Given the description of an element on the screen output the (x, y) to click on. 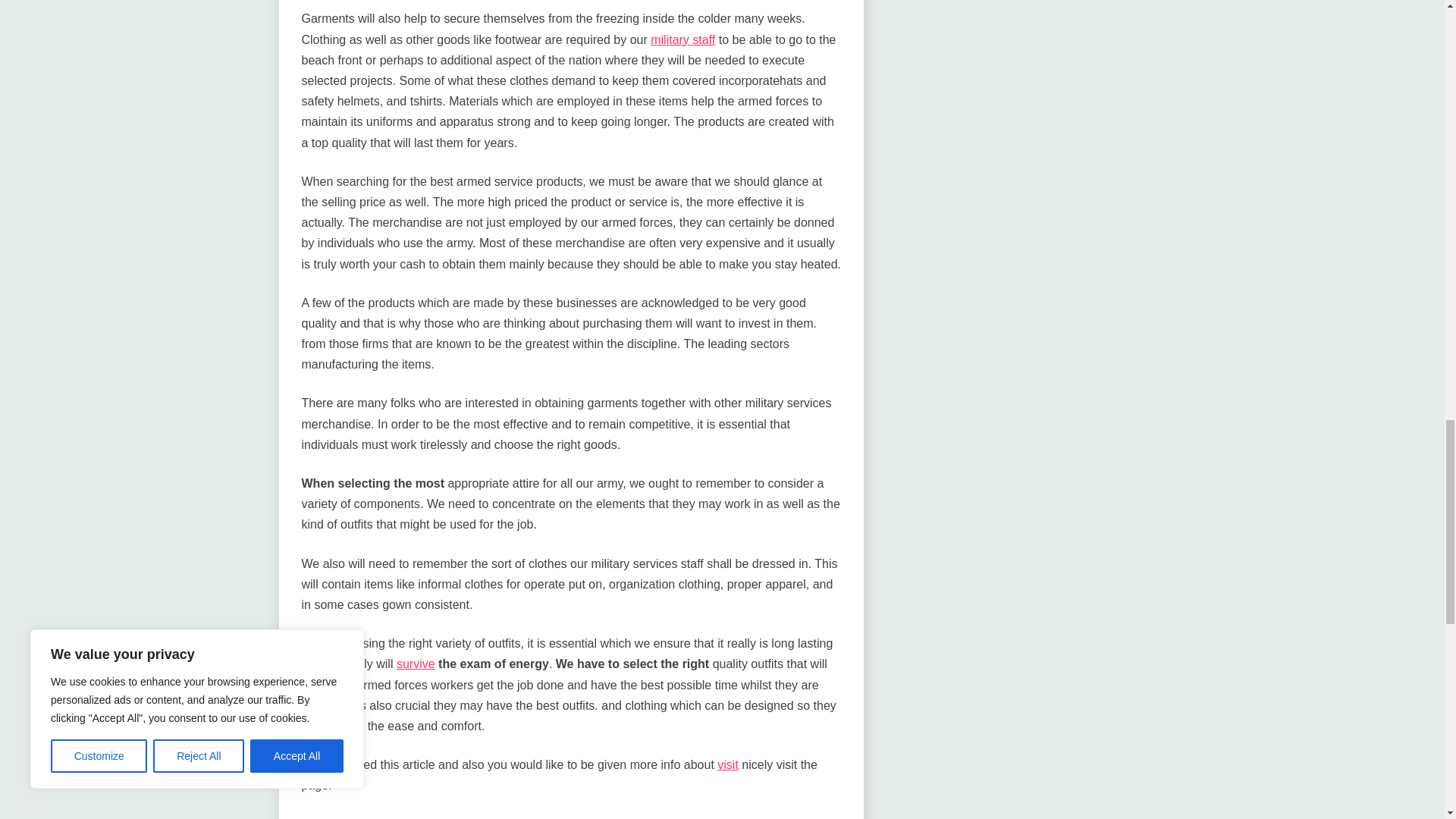
military staff (682, 39)
survive (415, 663)
visit (727, 764)
